Given the description of an element on the screen output the (x, y) to click on. 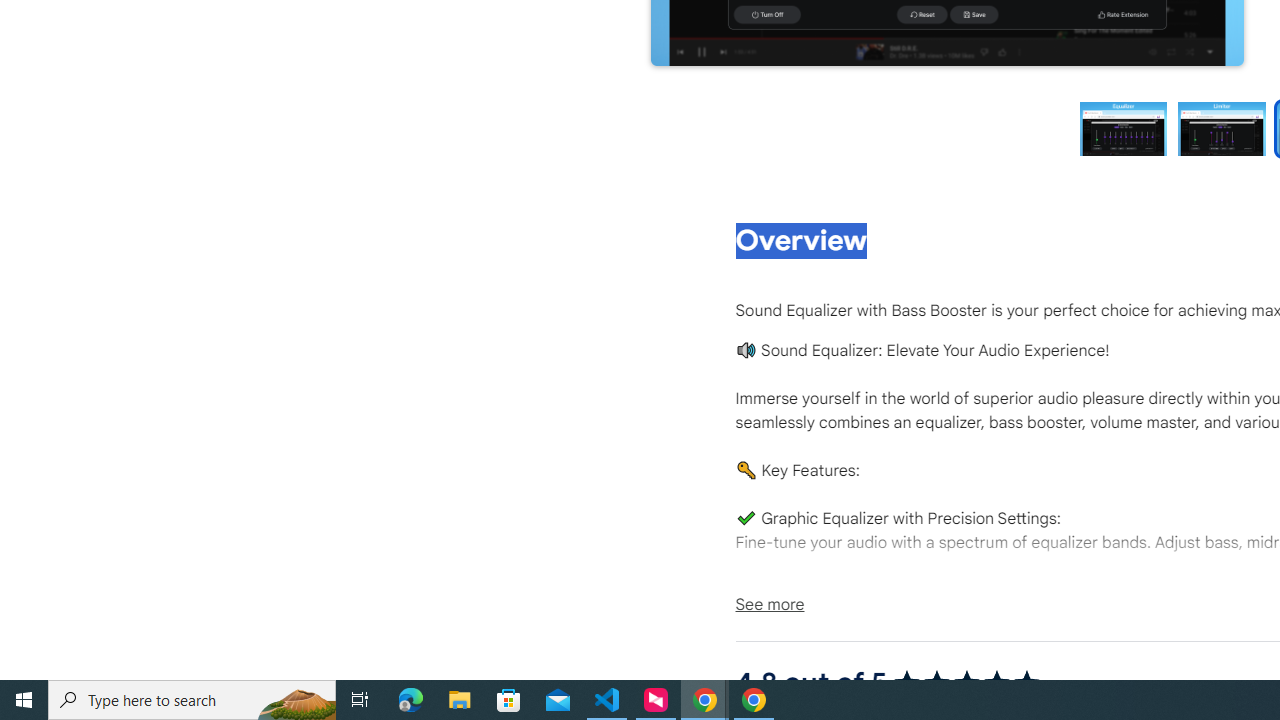
Preview slide 1 (1123, 128)
Preview slide 2 (1221, 128)
4.8 out of 5 stars (965, 682)
